Given the description of an element on the screen output the (x, y) to click on. 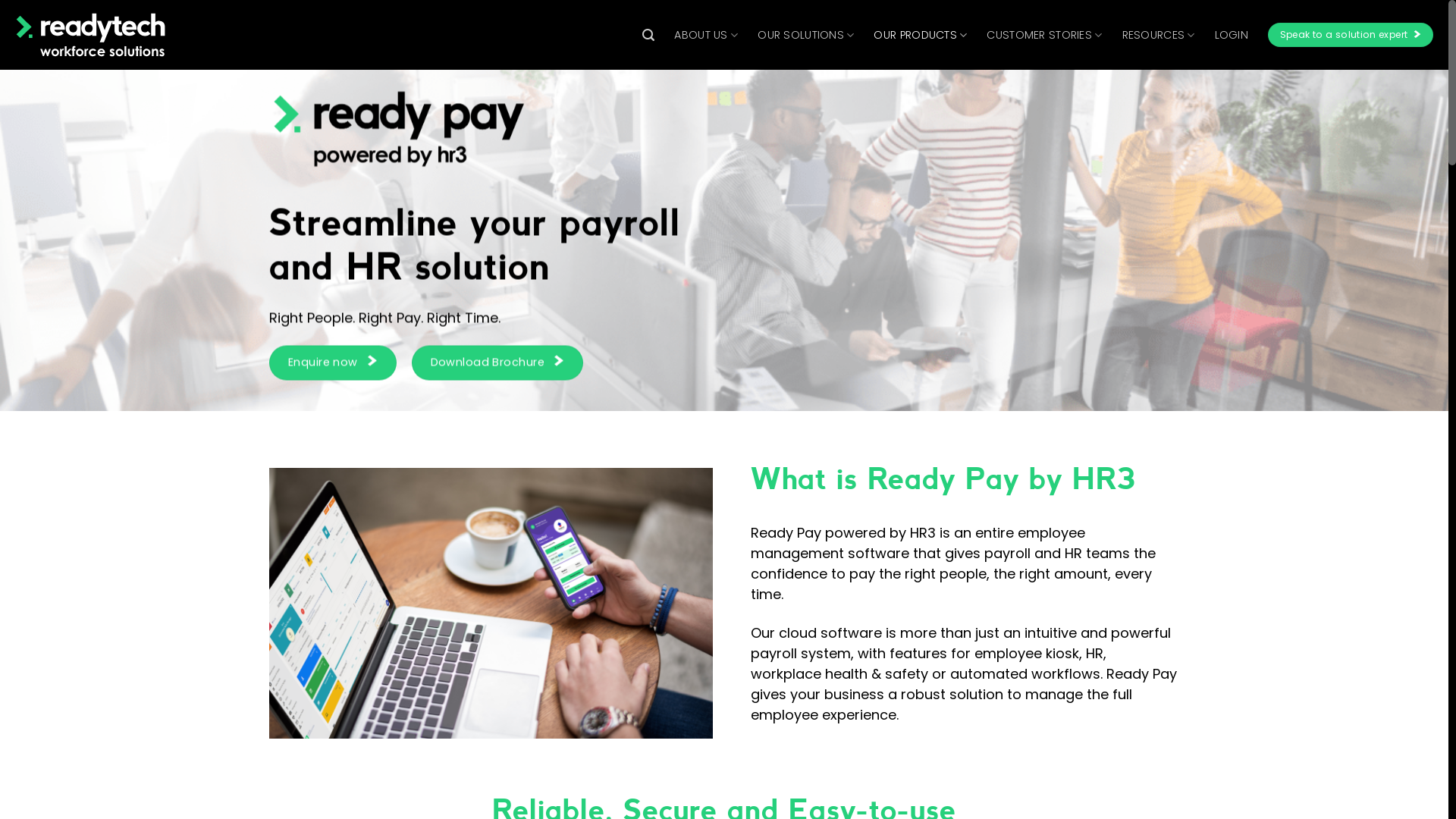
ABOUT US Element type: text (705, 35)
Speak to a solution expert Element type: text (1350, 34)
ReadyTech Workforce Element type: hover (90, 34)
LOGIN Element type: text (1231, 34)
OUR PRODUCTS Element type: text (919, 35)
Download Brochure Element type: text (497, 362)
OUR SOLUTIONS Element type: text (805, 35)
RESOURCES Element type: text (1158, 35)
Skip to content Element type: text (0, 0)
CUSTOMER STORIES Element type: text (1043, 35)
Enquire now Element type: text (332, 362)
